Given the description of an element on the screen output the (x, y) to click on. 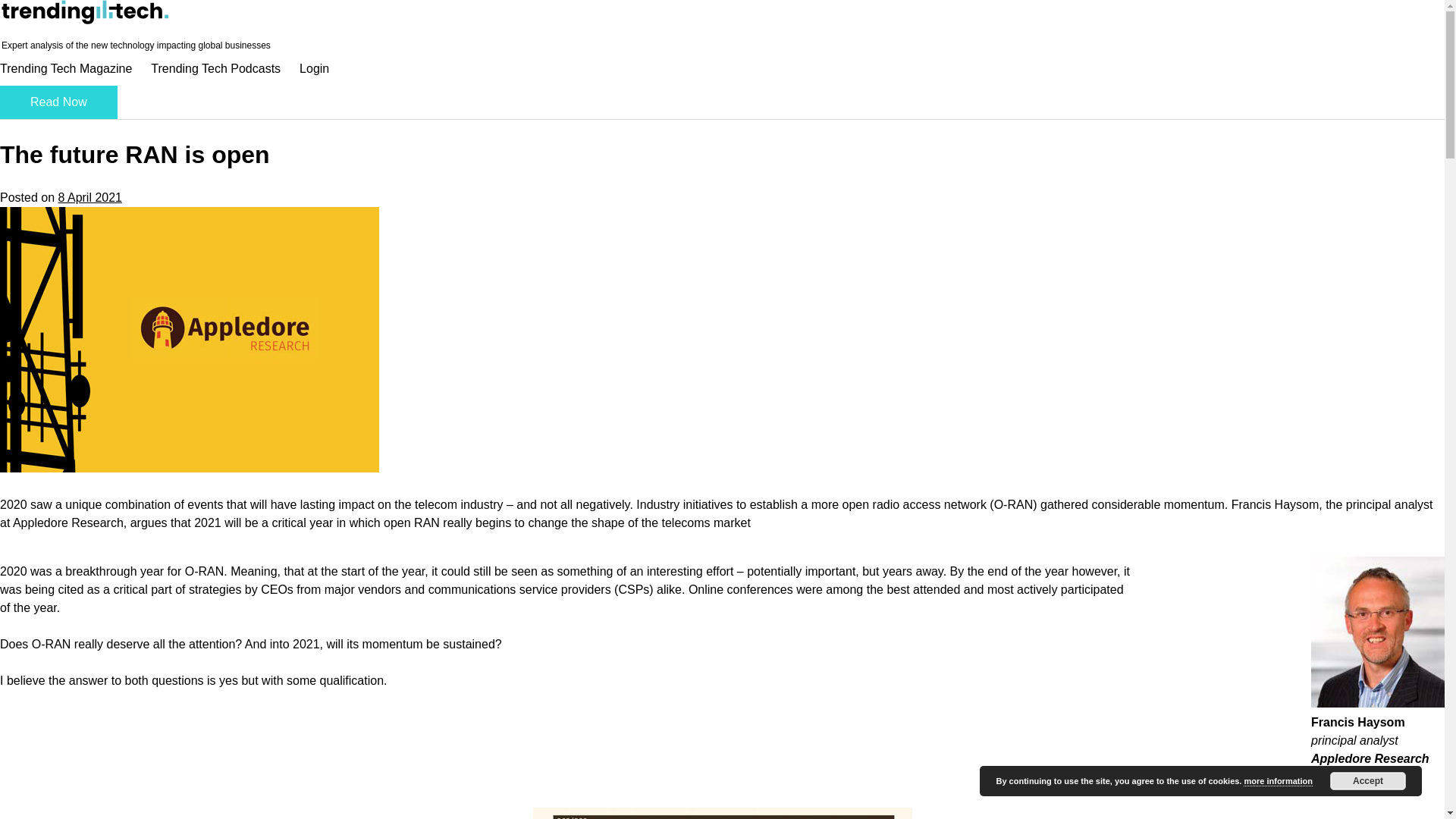
Login (314, 68)
Accept (1368, 781)
more information (1277, 781)
8 April 2021 (90, 196)
Login (314, 68)
Trending Tech Magazine (66, 68)
Trending Tech Podcasts (216, 68)
Read Now (58, 101)
